Given the description of an element on the screen output the (x, y) to click on. 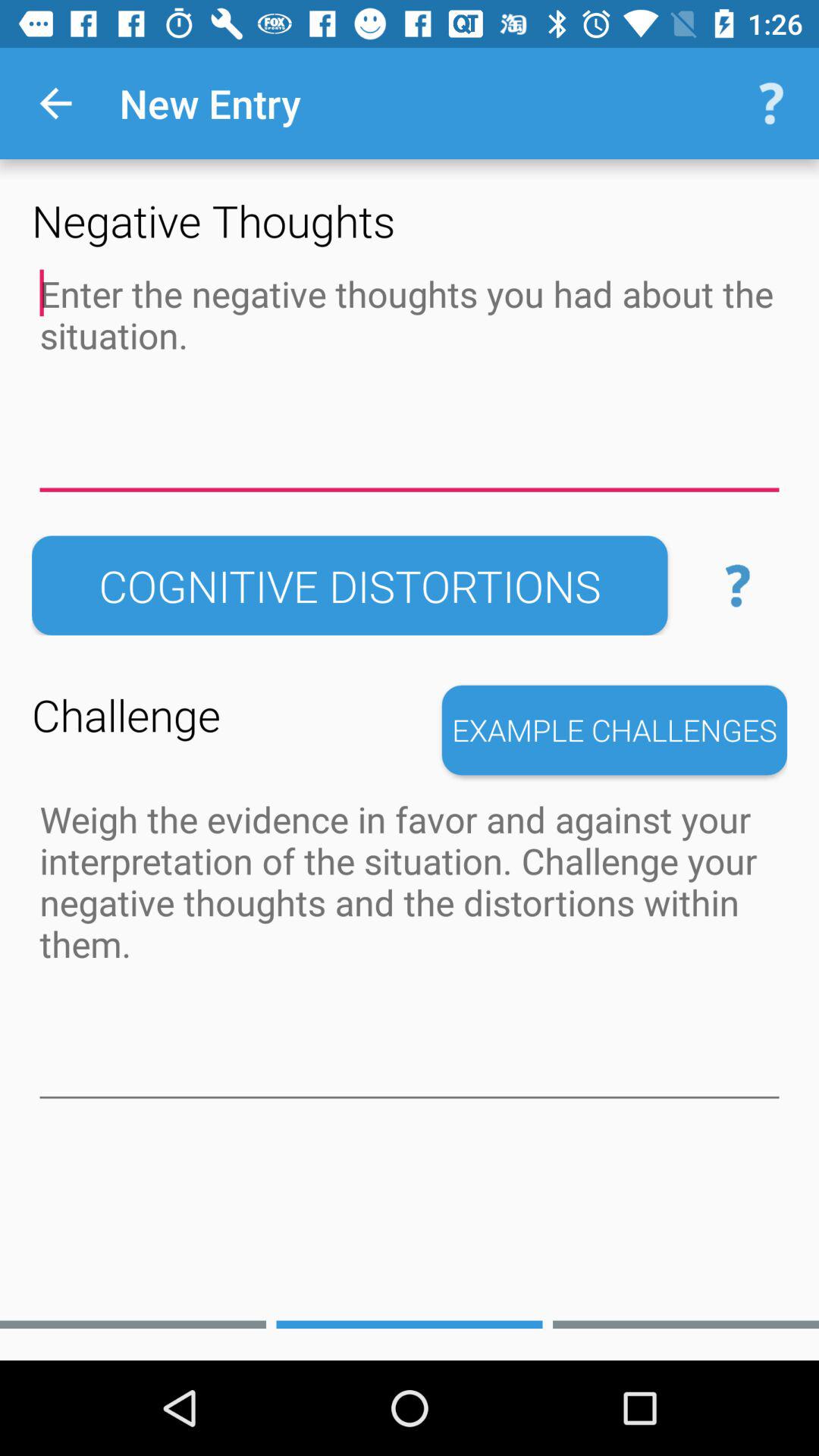
choose the button next to the cognitive distortions button (737, 585)
